Given the description of an element on the screen output the (x, y) to click on. 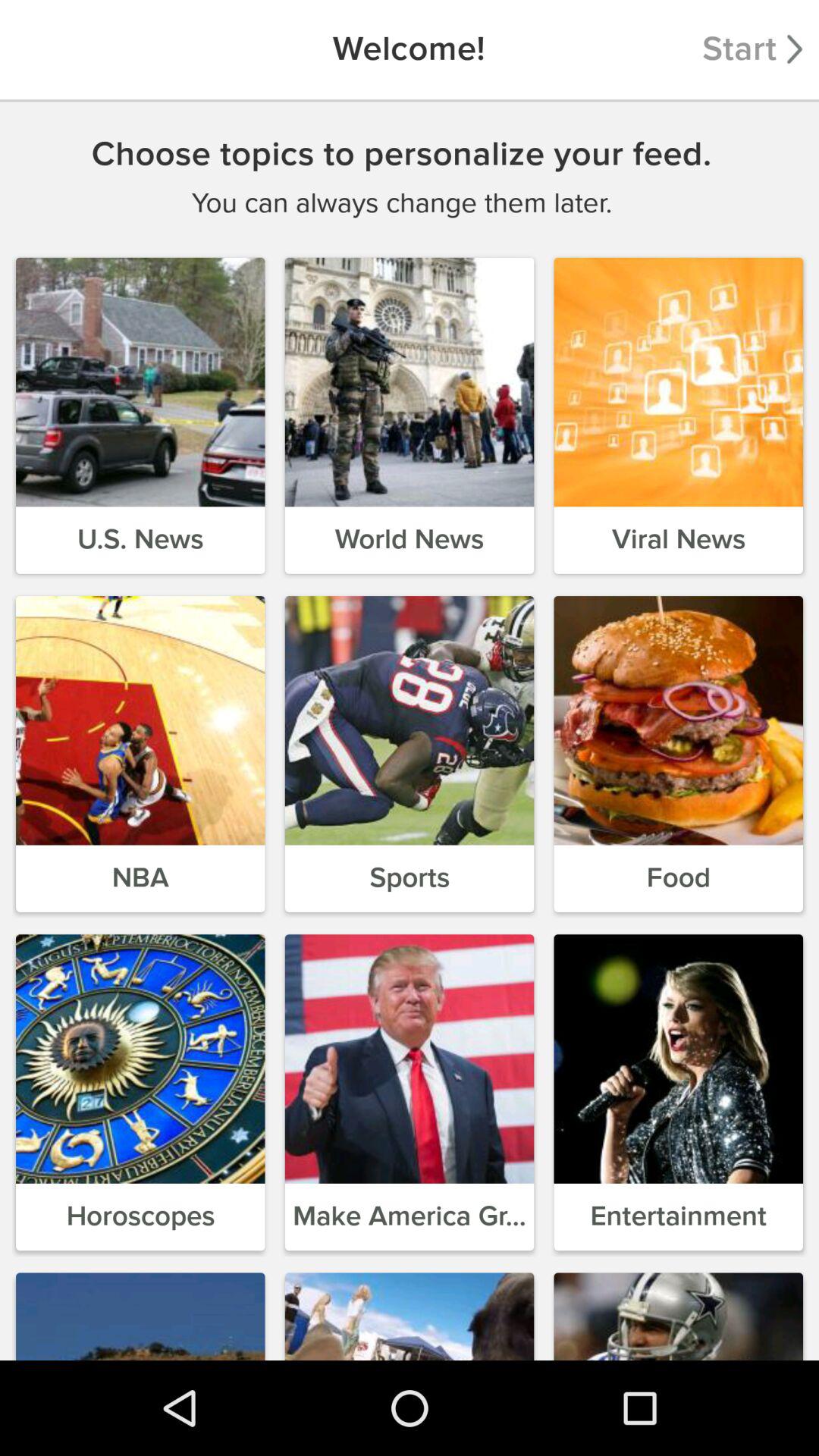
click the item next to the welcome! item (752, 49)
